Given the description of an element on the screen output the (x, y) to click on. 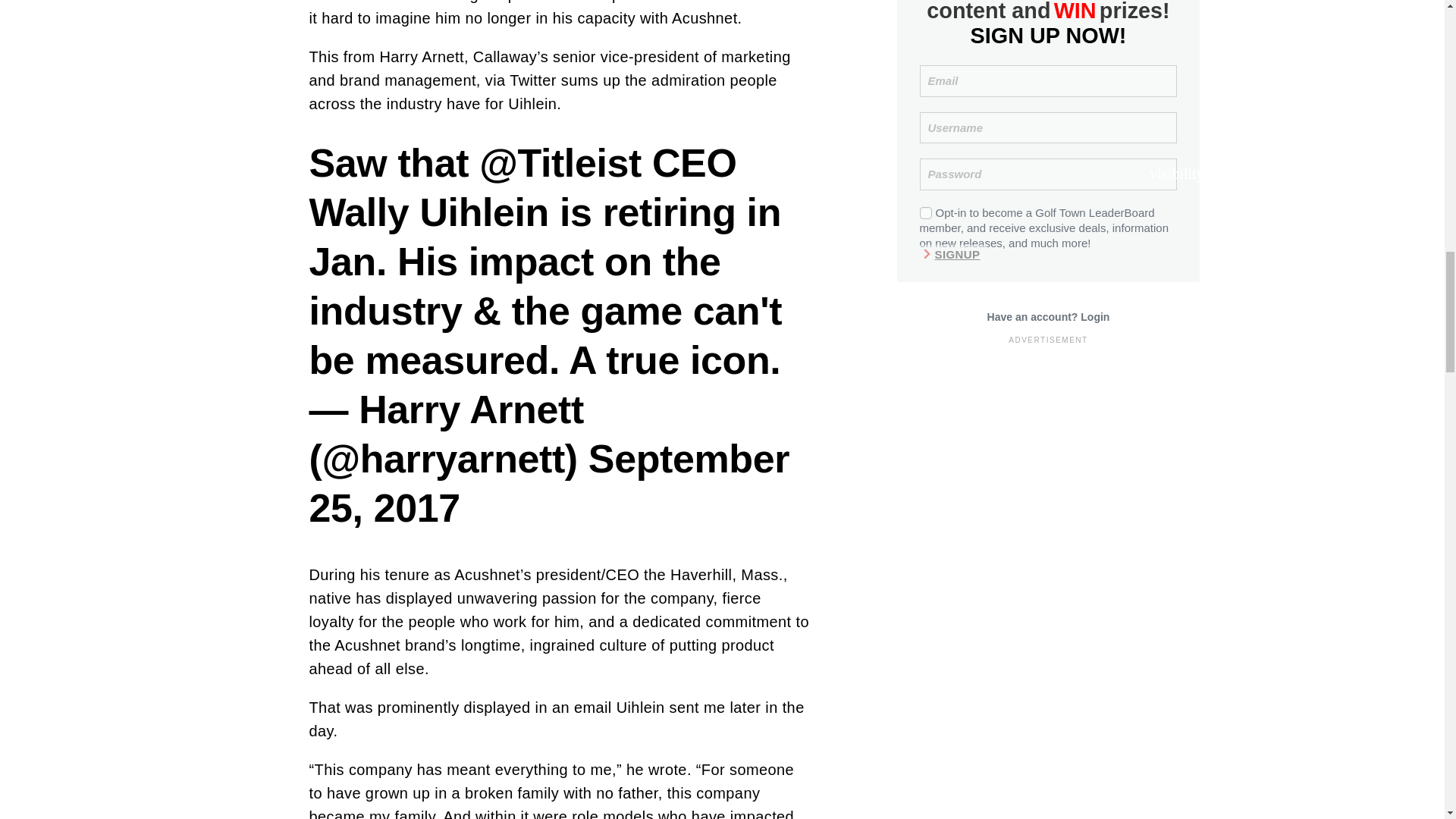
SIGNUP (952, 253)
true (924, 213)
